Given the description of an element on the screen output the (x, y) to click on. 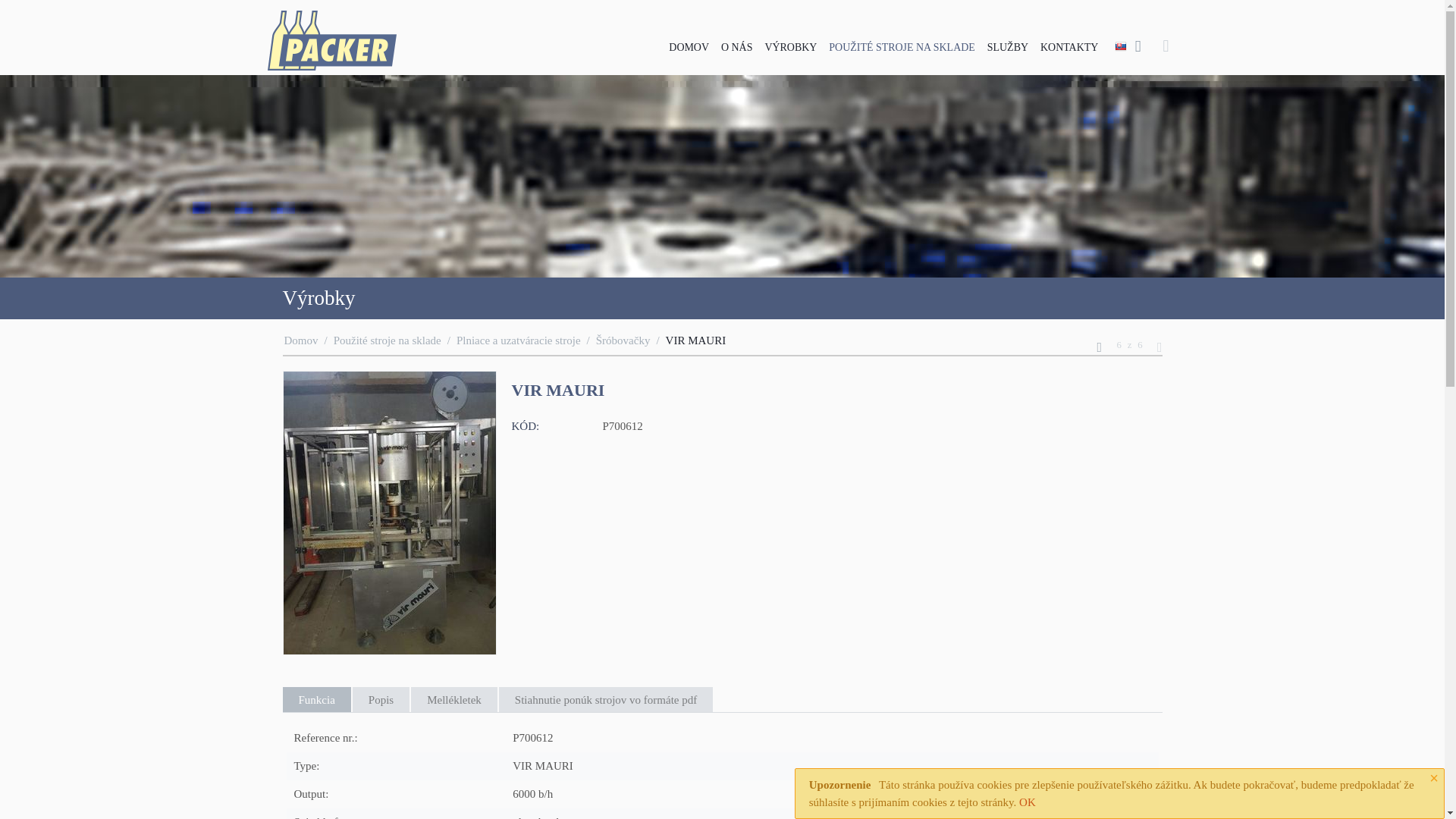
KONTAKTY (1068, 46)
DOMOV (688, 46)
OK (1027, 802)
